Given the description of an element on the screen output the (x, y) to click on. 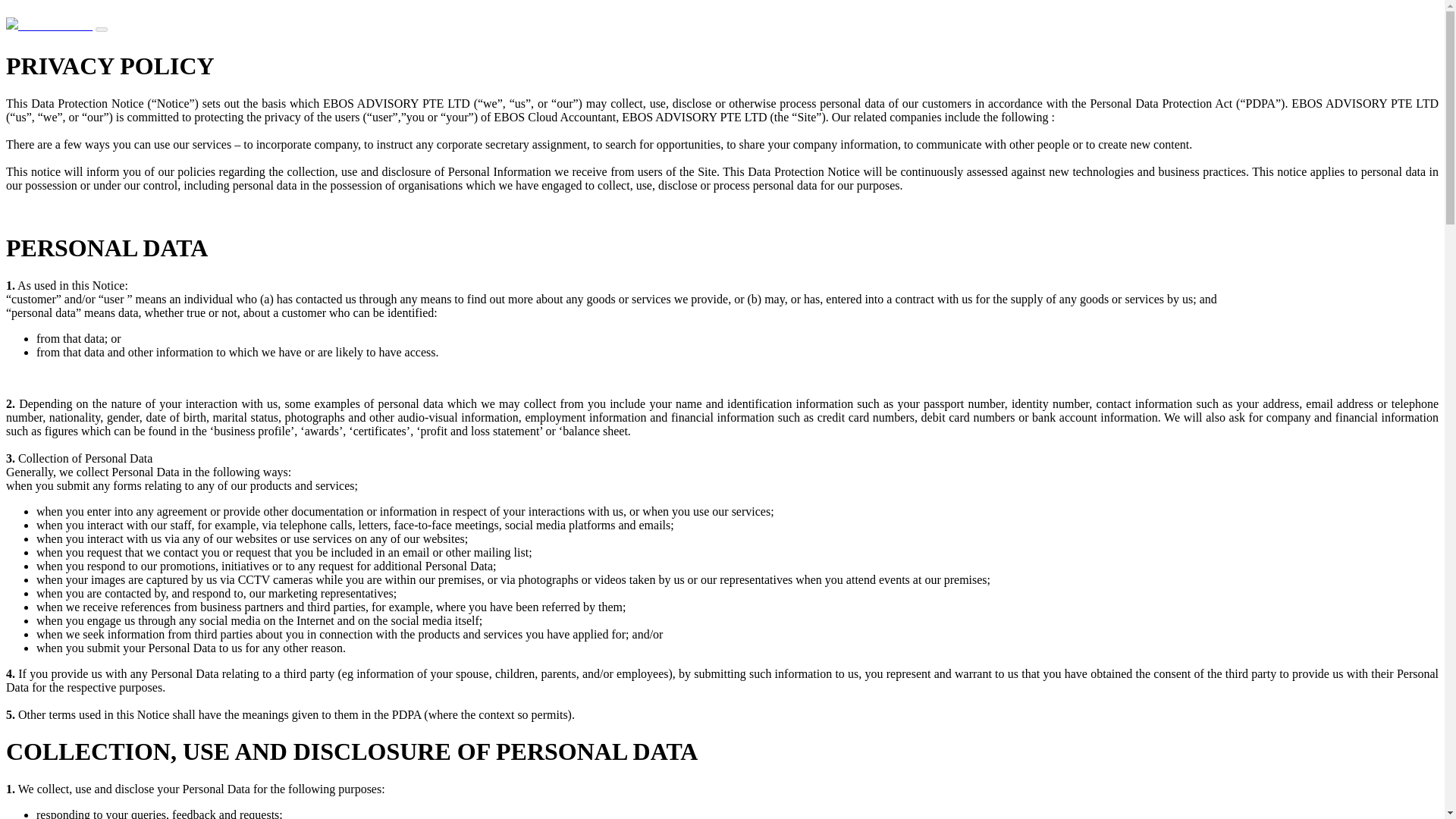
EBOS (49, 24)
